Given the description of an element on the screen output the (x, y) to click on. 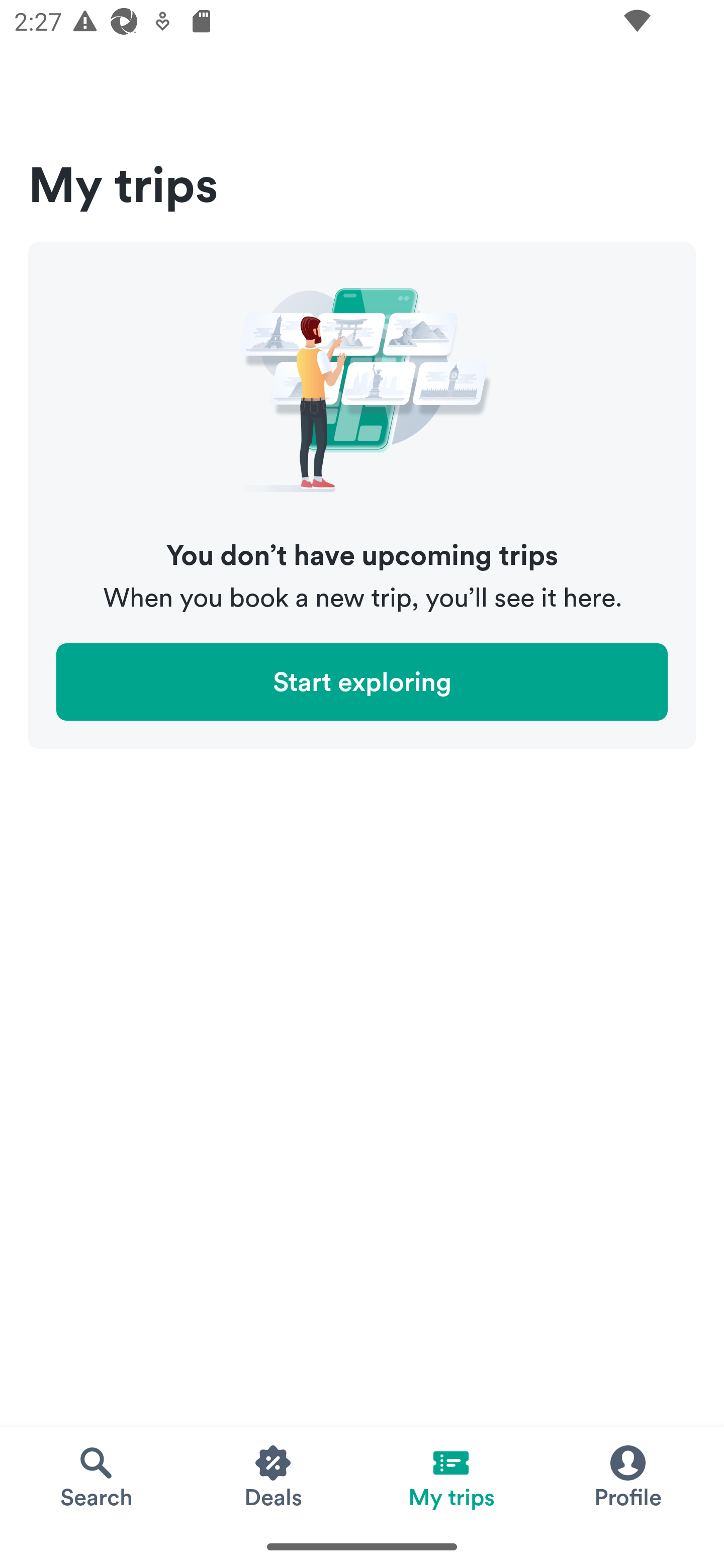
Start exploring (361, 681)
Search (95, 1475)
Deals (273, 1475)
Profile (627, 1475)
